Given the description of an element on the screen output the (x, y) to click on. 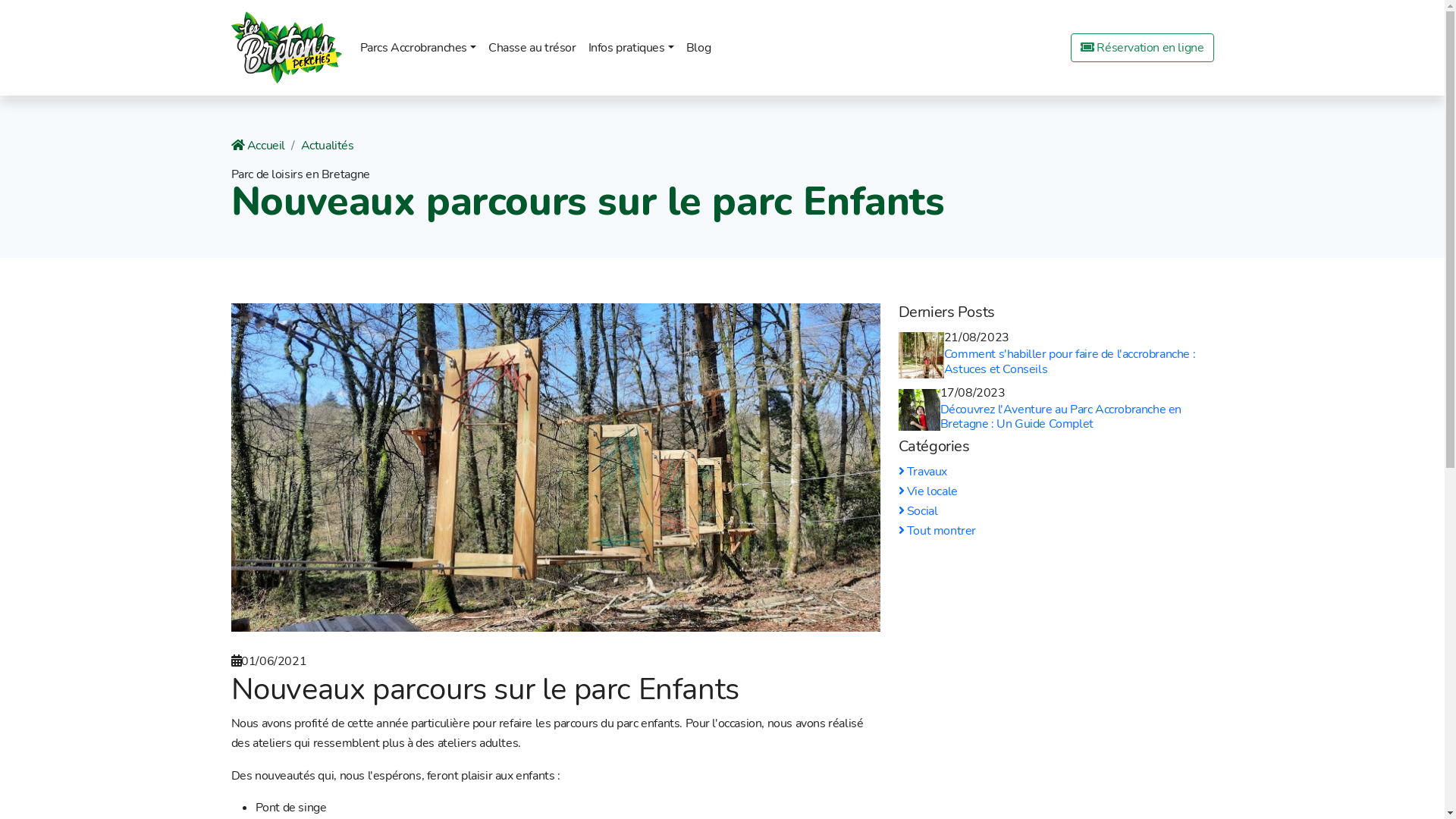
Vie locale Element type: text (927, 491)
Travaux Element type: text (921, 471)
Social Element type: text (917, 510)
Infos pratiques Element type: text (631, 47)
Parcs Accrobranches Element type: text (418, 47)
Tout montrer Element type: text (936, 530)
Accueil Element type: text (257, 145)
Blog Element type: text (698, 47)
